Given the description of an element on the screen output the (x, y) to click on. 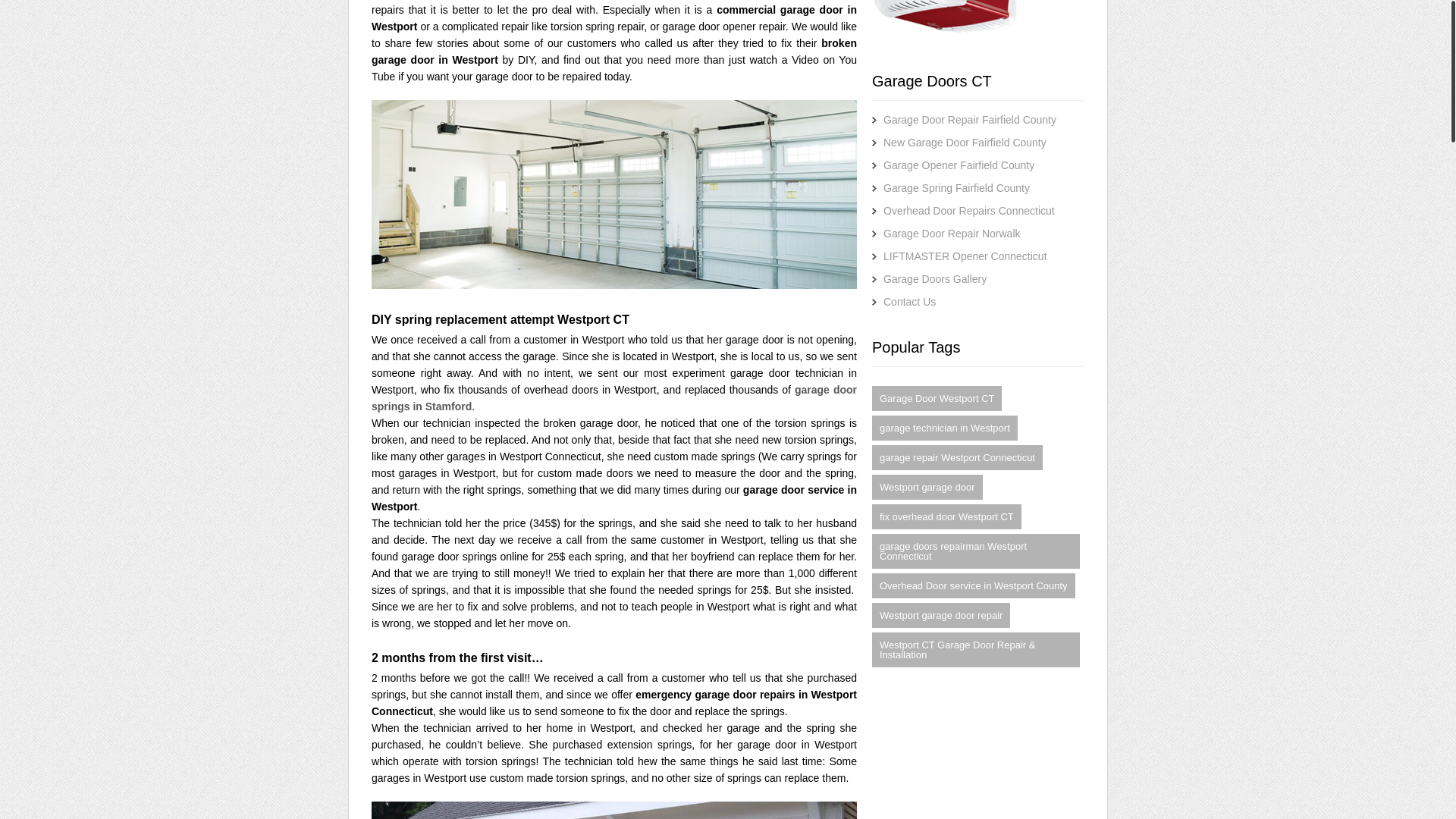
spring-opener (978, 22)
